Given the description of an element on the screen output the (x, y) to click on. 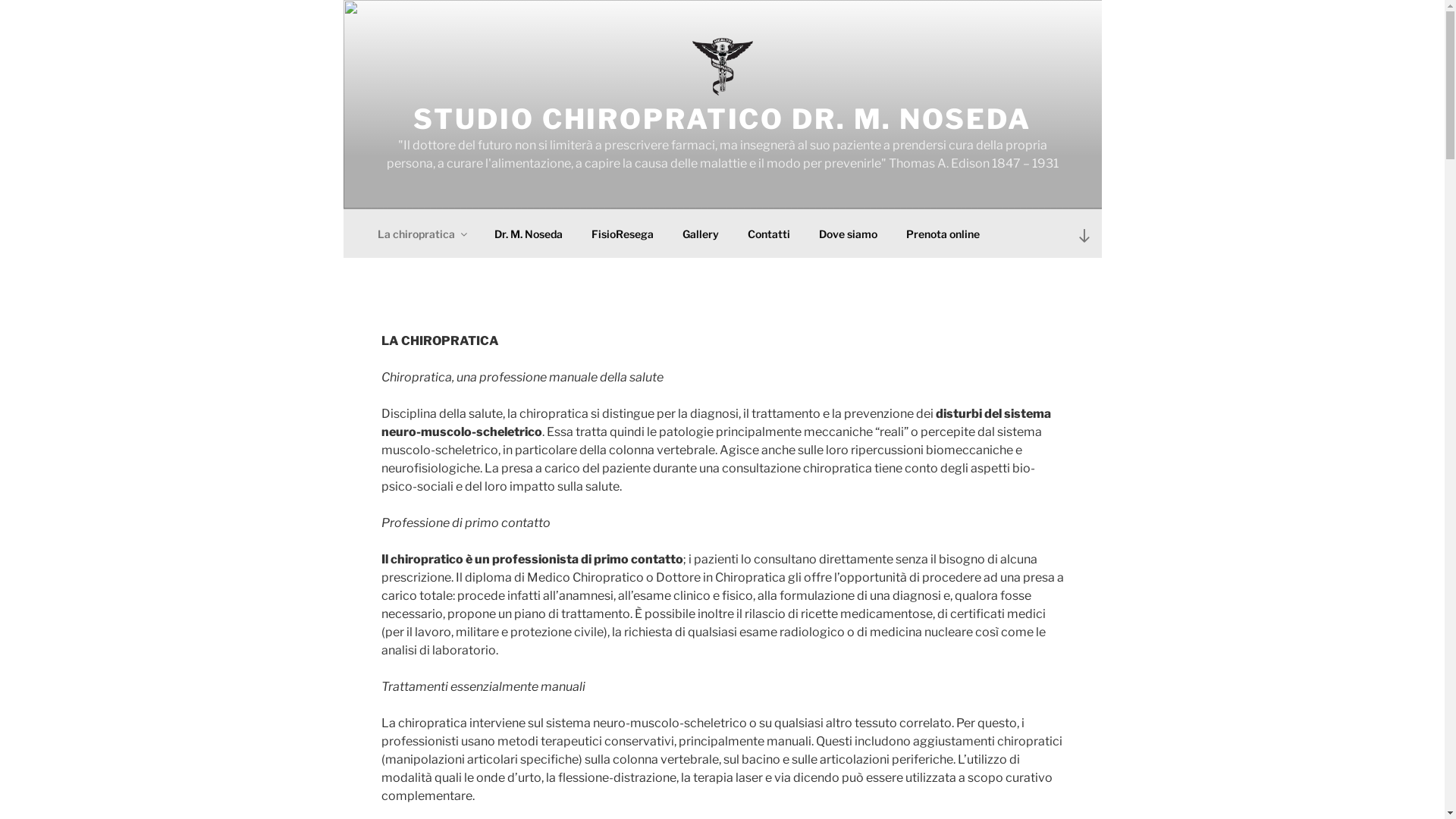
Gallery Element type: text (699, 232)
FisioResega Element type: text (621, 232)
La chiropratica Element type: text (421, 232)
Dr. M. Noseda Element type: text (527, 232)
Dove siamo Element type: text (847, 232)
Contatti Element type: text (768, 232)
Prenota online Element type: text (943, 232)
STUDIO CHIROPRATICO DR. M. NOSEDA Element type: text (721, 118)
